Given the description of an element on the screen output the (x, y) to click on. 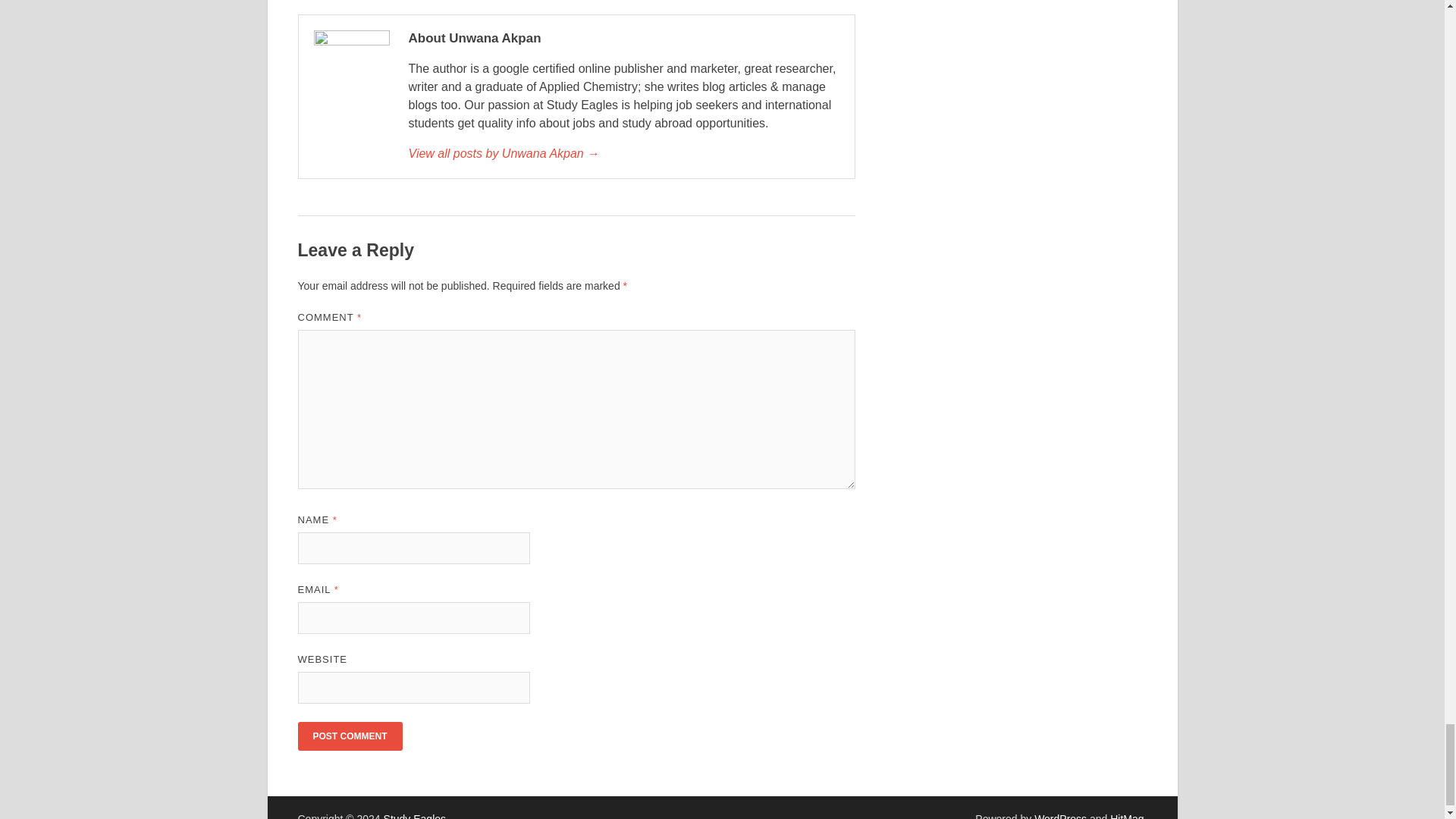
Post Comment (349, 736)
Unwana Akpan (622, 153)
Post Comment (349, 736)
